Given the description of an element on the screen output the (x, y) to click on. 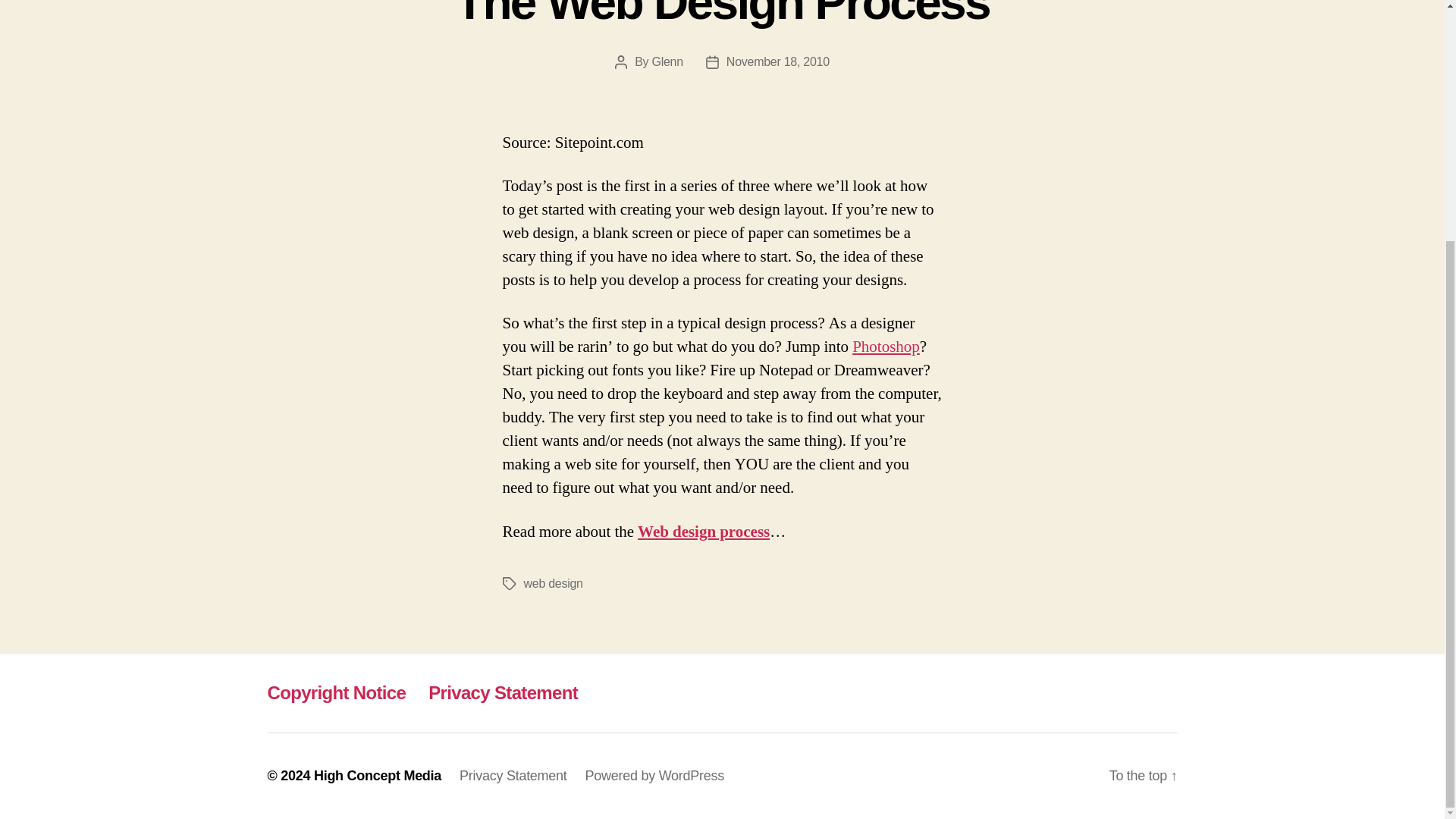
Powered by WordPress (654, 775)
High Concept Media (377, 775)
web design (552, 583)
Web design process (703, 531)
Photoshop (885, 346)
Photoshop (885, 346)
Glenn (667, 61)
Privacy Statement (513, 775)
Copyright Notice (336, 692)
Privacy Statement (503, 692)
